Given the description of an element on the screen output the (x, y) to click on. 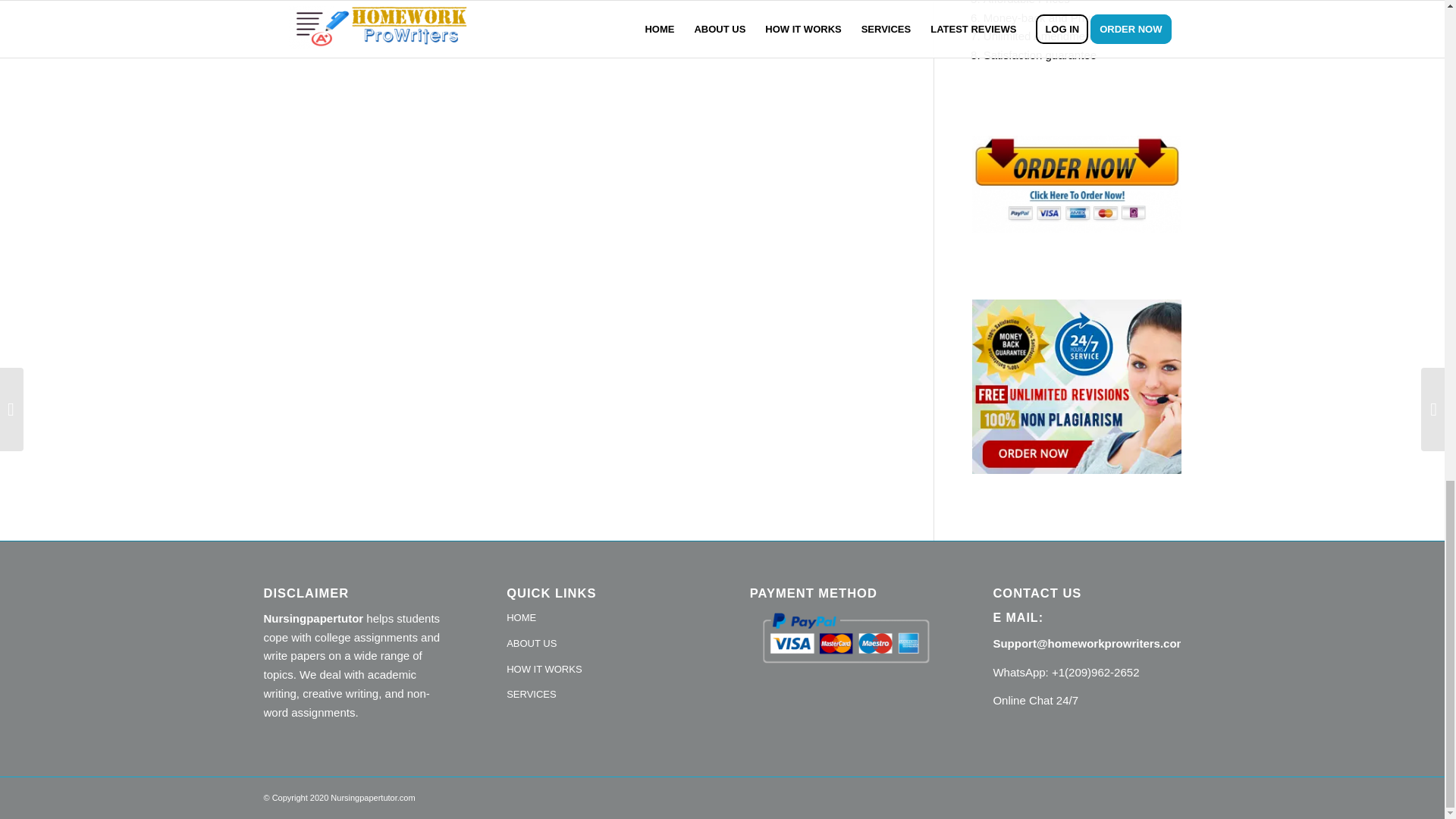
ABOUT US (600, 644)
HOME (600, 618)
HOW IT WORKS (600, 670)
SERVICES (600, 695)
